Given the description of an element on the screen output the (x, y) to click on. 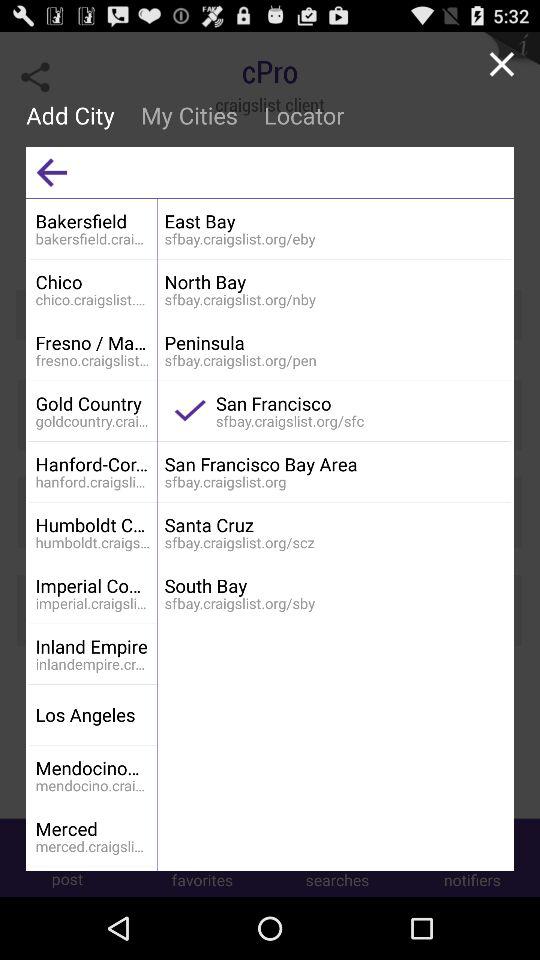
choose the item above peninsula icon (334, 281)
